Given the description of an element on the screen output the (x, y) to click on. 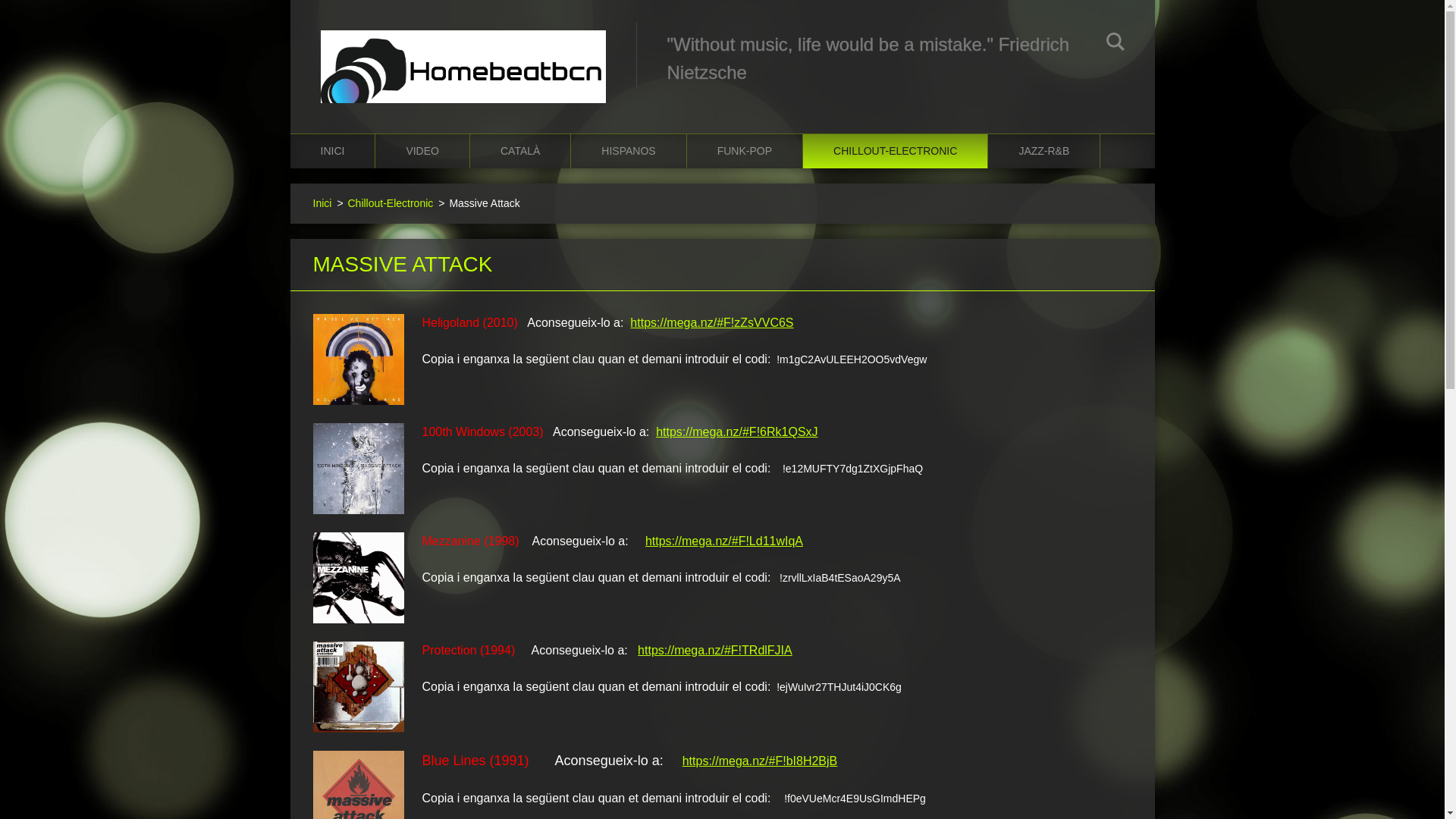
CHILLOUT-ELECTRONIC Element type: text (895, 151)
JAZZ-R&B Element type: text (1044, 151)
FUNK-POP Element type: text (745, 151)
Chillout-Electronic Element type: text (390, 203)
https://mega.nz/#F!bI8H2BjB Element type: text (759, 760)
HISPANOS Element type: text (628, 151)
Inici Element type: text (321, 203)
https://mega.nz/#F!Ld11wIqA Element type: text (724, 540)
VIDEO Element type: text (422, 151)
https://mega.nz/#F!6Rk1QSxJ Element type: text (736, 431)
https://mega.nz/#F!zZsVVC6S Element type: text (711, 322)
INICI Element type: text (332, 151)
https://mega.nz/#F!TRdlFJIA Element type: text (714, 649)
Cerca Element type: text (1114, 43)
